Given the description of an element on the screen output the (x, y) to click on. 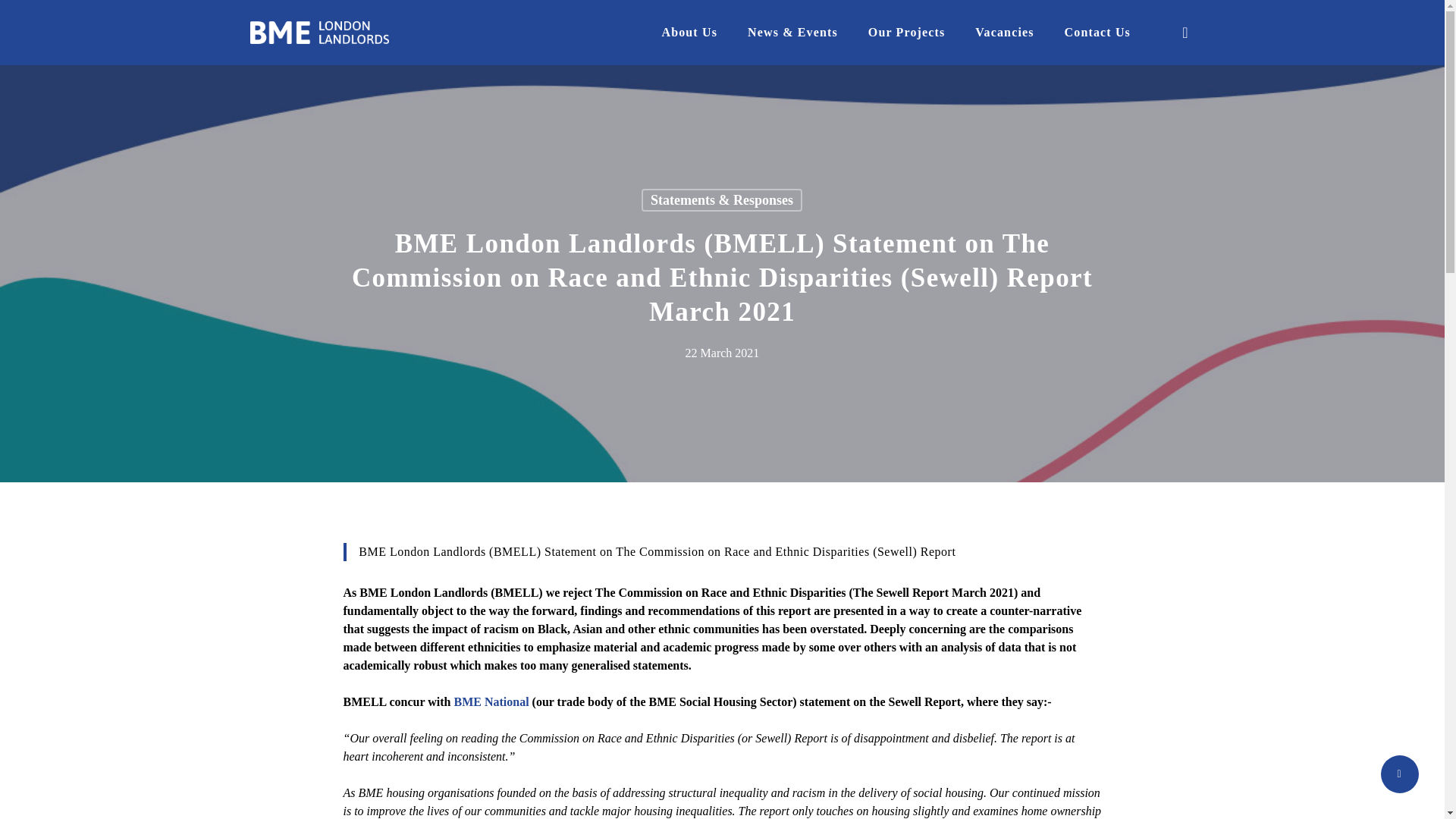
search (1184, 32)
BME National (490, 701)
Vacancies (1004, 32)
About Us (689, 32)
Contact Us (1097, 32)
Our Projects (905, 32)
